Given the description of an element on the screen output the (x, y) to click on. 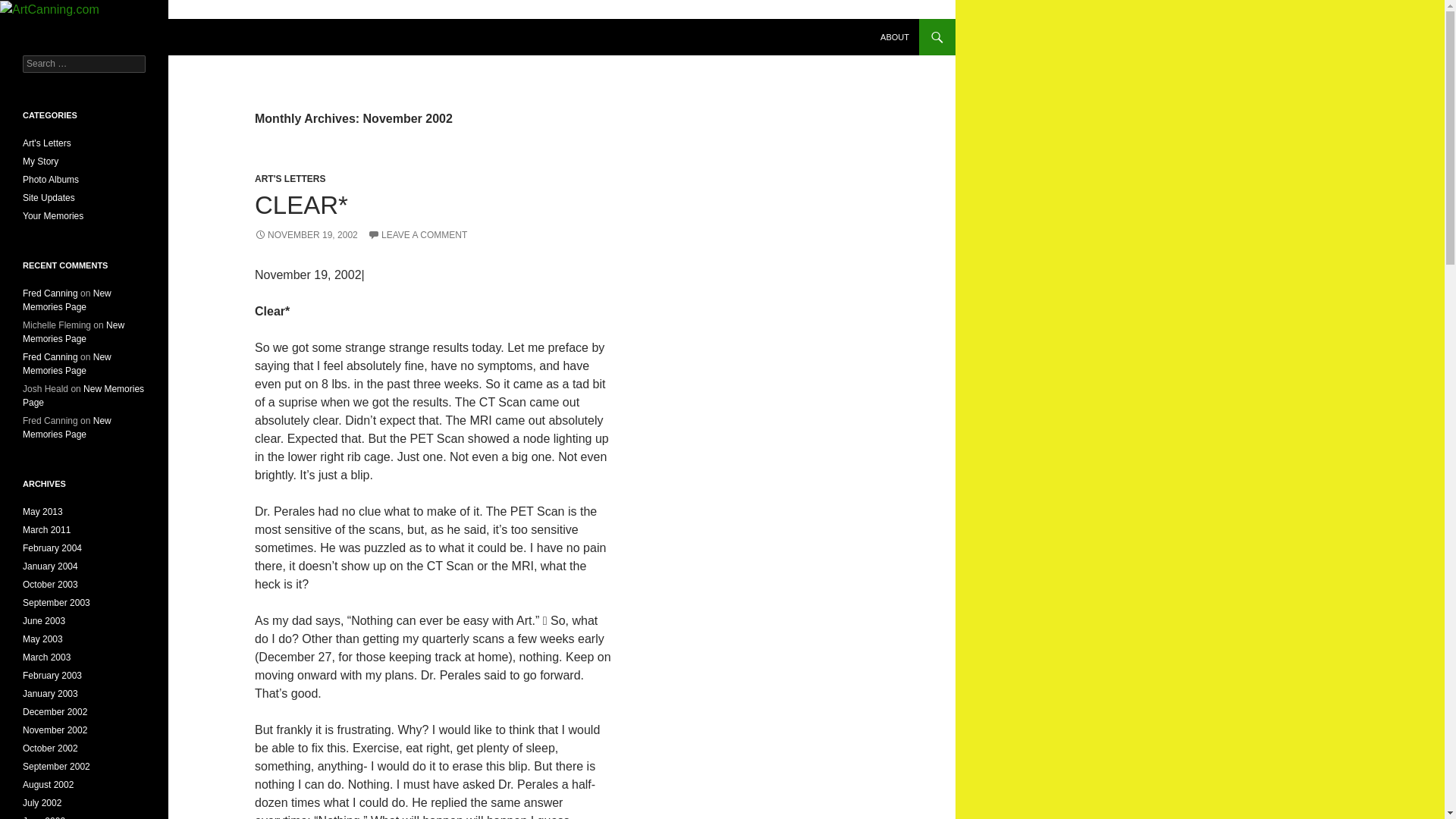
September 2002 (56, 766)
December 2002 (55, 711)
October 2003 (50, 584)
November 2002 (55, 729)
ART'S LETTERS (290, 178)
September 2003 (56, 602)
ArtCanning.com (76, 36)
Your Memories (52, 215)
New Memories Page (67, 427)
